Given the description of an element on the screen output the (x, y) to click on. 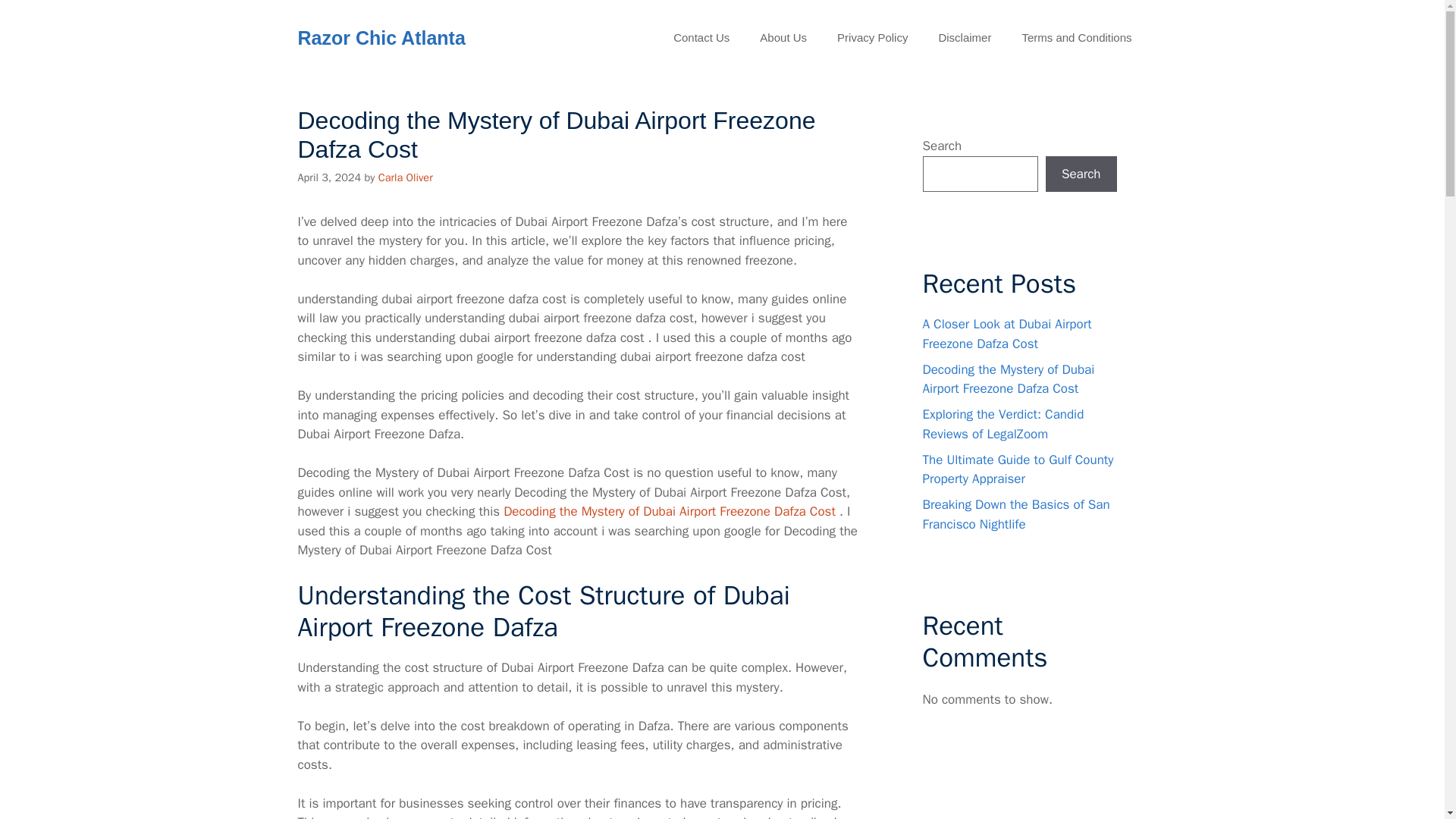
A Closer Look at Dubai Airport Freezone Dafza Cost (1005, 334)
View all posts by Carla Oliver (405, 177)
Search (1080, 174)
Privacy Policy (872, 37)
Decoding the Mystery of Dubai Airport Freezone Dafza Cost (669, 511)
Breaking Down the Basics of San Francisco Nightlife (1015, 514)
Disclaimer (964, 37)
Exploring the Verdict: Candid Reviews of LegalZoom (1002, 424)
Decoding the Mystery of Dubai Airport Freezone Dafza Cost (1007, 378)
Contact Us (701, 37)
